Given the description of an element on the screen output the (x, y) to click on. 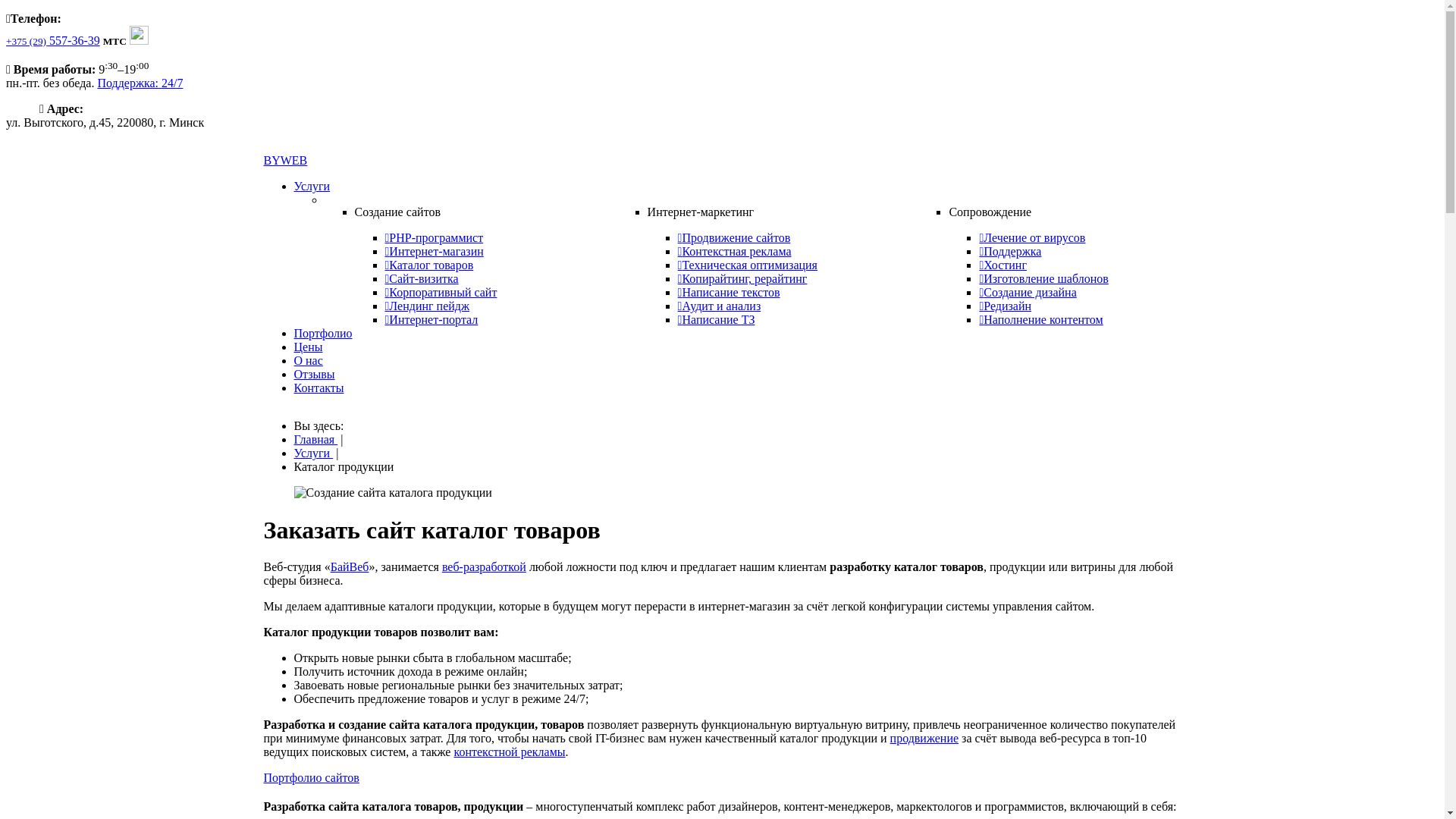
+375 (29) 557-36-39 Element type: text (53, 40)
BYWEB Element type: text (722, 160)
